Given the description of an element on the screen output the (x, y) to click on. 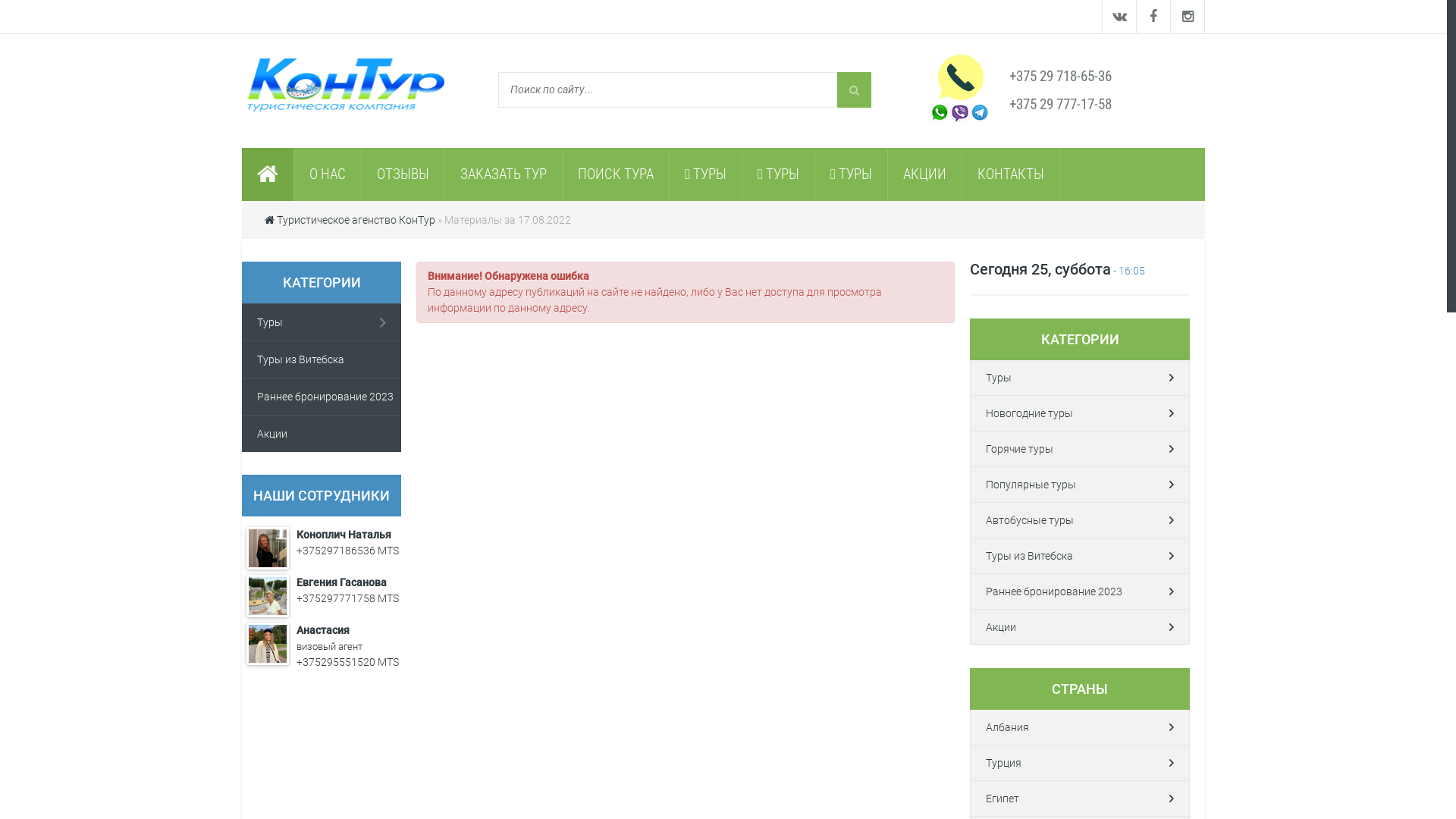
Facebook Element type: hover (1153, 16)
+375 29 777-17-58 Element type: text (1060, 103)
instagram Element type: hover (1187, 16)
+375 29 718-65-36 Element type: text (1060, 75)
